Given the description of an element on the screen output the (x, y) to click on. 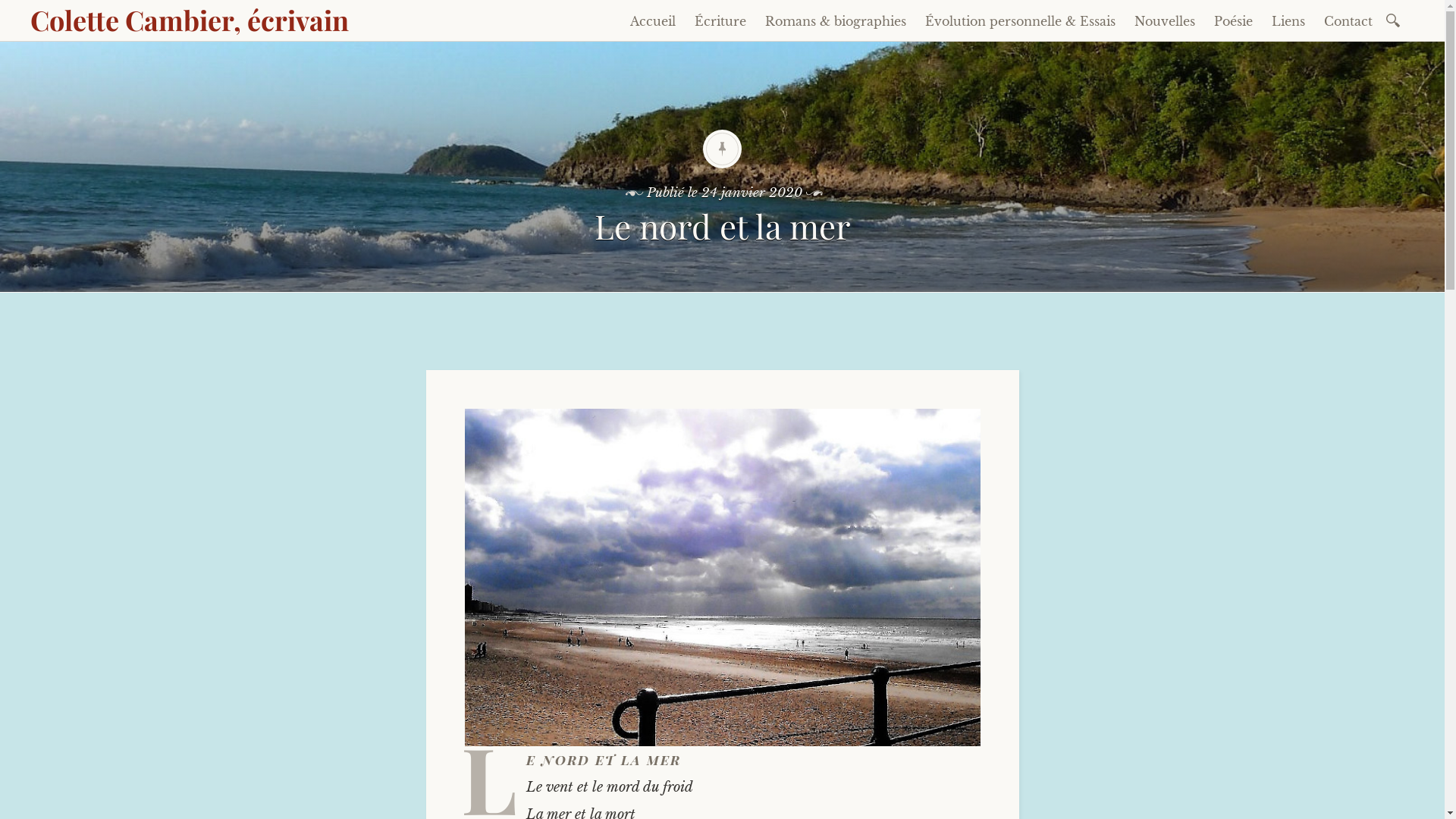
Contact Element type: text (1348, 20)
Rechercher Element type: text (11, 9)
24 janvier 2020 Element type: text (751, 192)
Nouvelles Element type: text (1164, 20)
Liens Element type: text (1288, 20)
Romans & biographies Element type: text (835, 20)
Accueil Element type: text (652, 20)
